Given the description of an element on the screen output the (x, y) to click on. 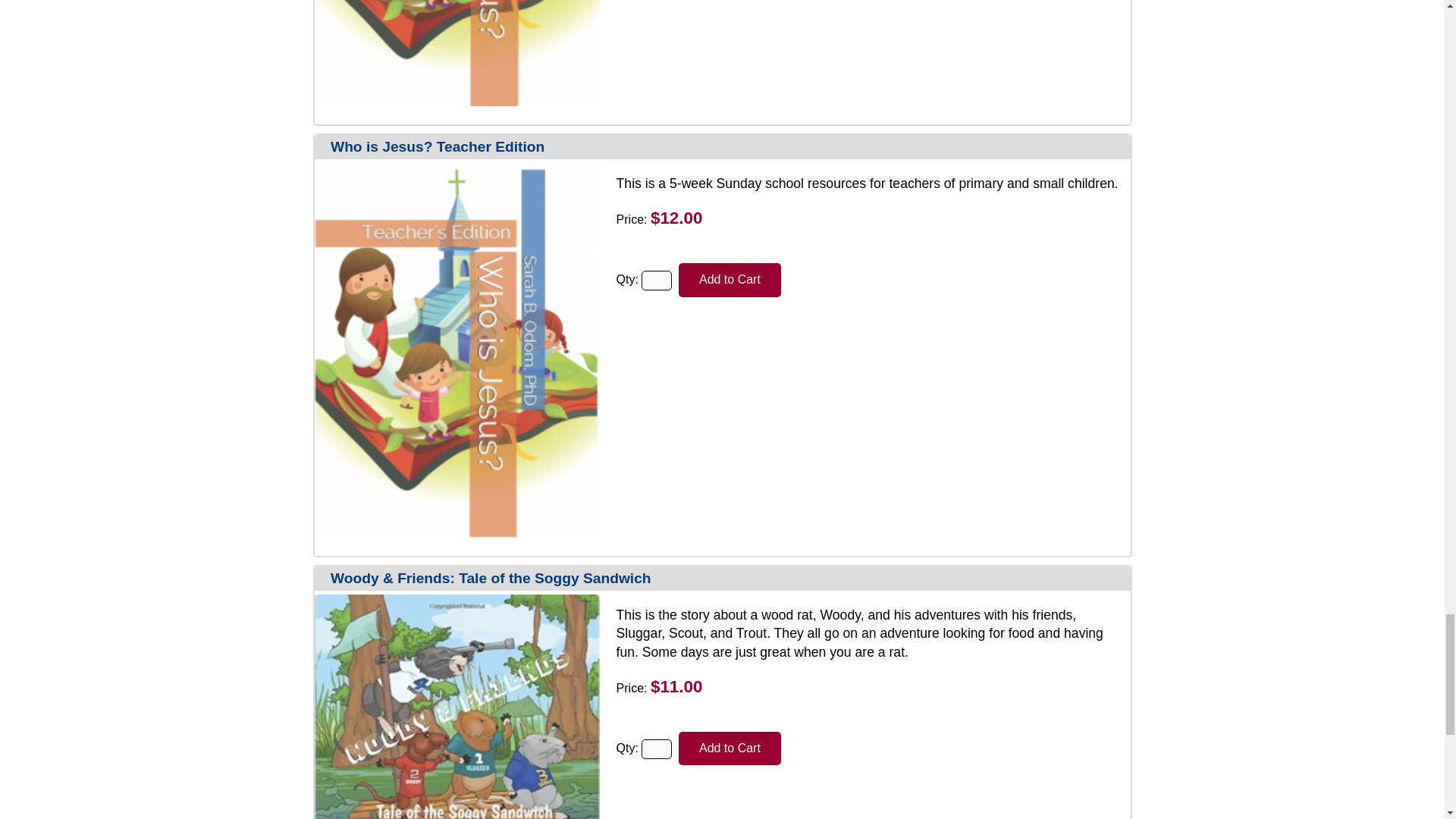
Add to Cart (729, 279)
Add to Cart (729, 748)
Add to Cart (729, 279)
